Given the description of an element on the screen output the (x, y) to click on. 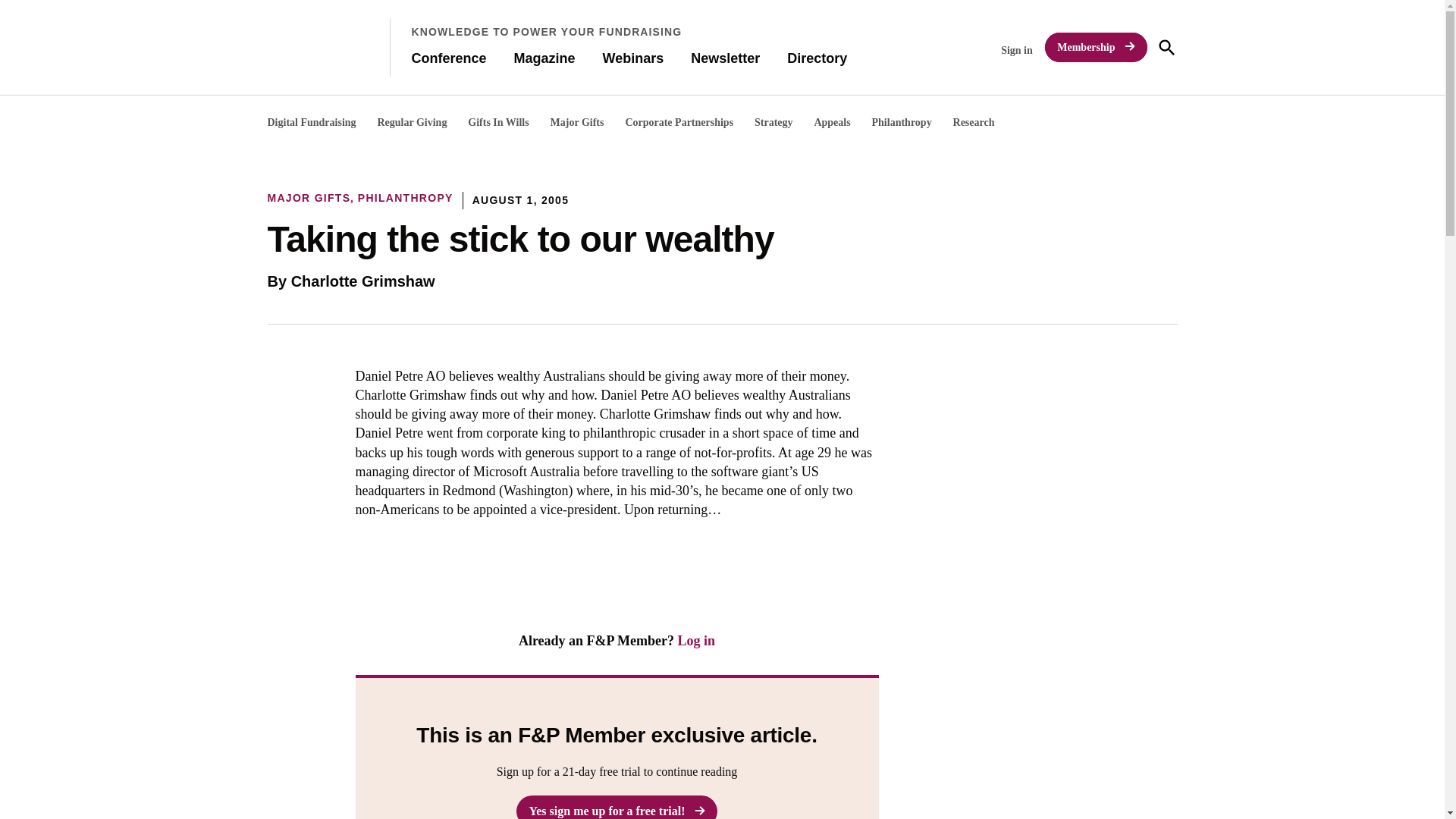
Directory (817, 58)
Magazine (544, 58)
Sign in (1016, 49)
Webinars (632, 58)
Conference (448, 58)
Newsletter (725, 58)
